Given the description of an element on the screen output the (x, y) to click on. 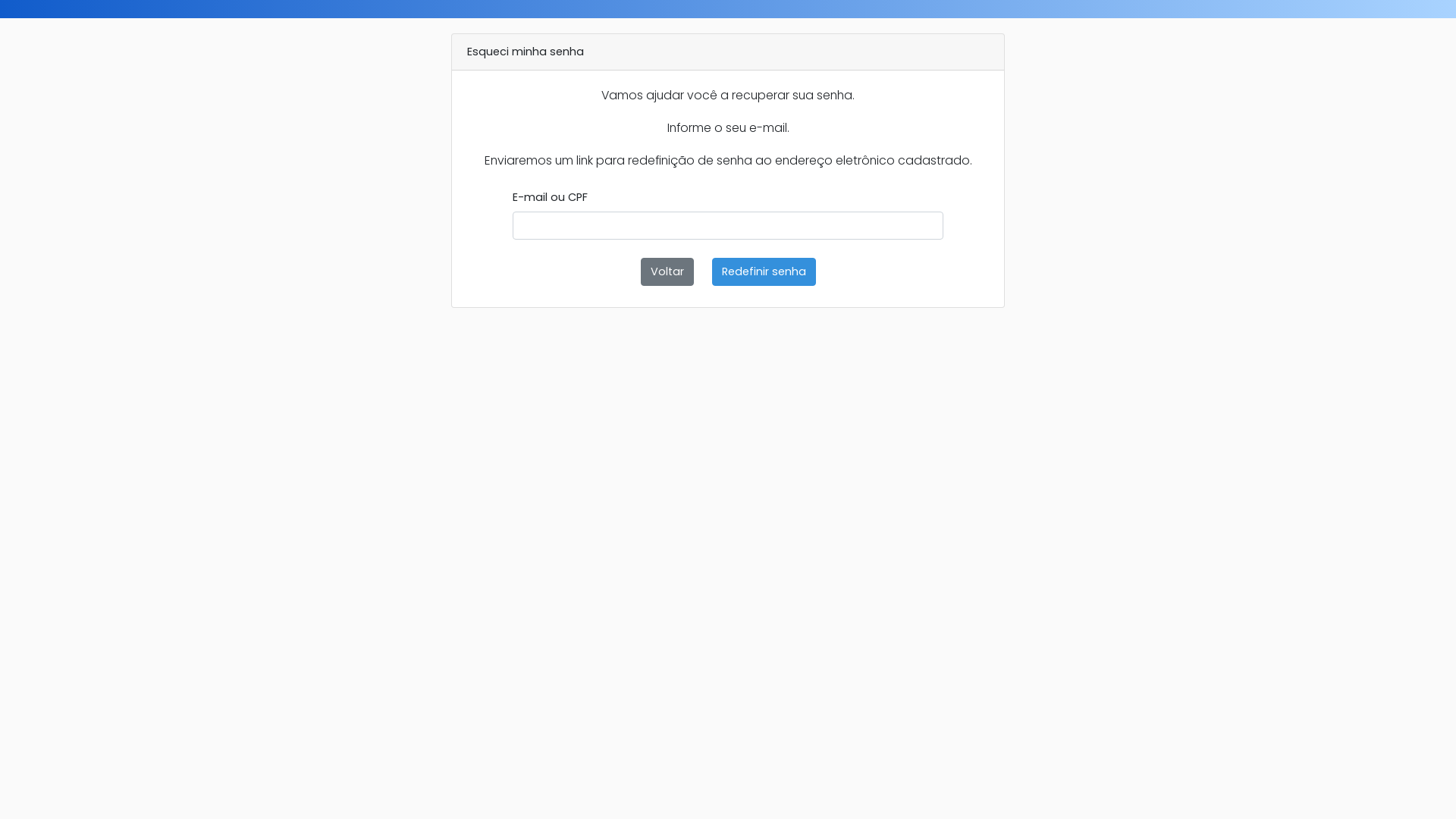
Redefinir senha Element type: text (763, 271)
Voltar Element type: text (666, 271)
